Given the description of an element on the screen output the (x, y) to click on. 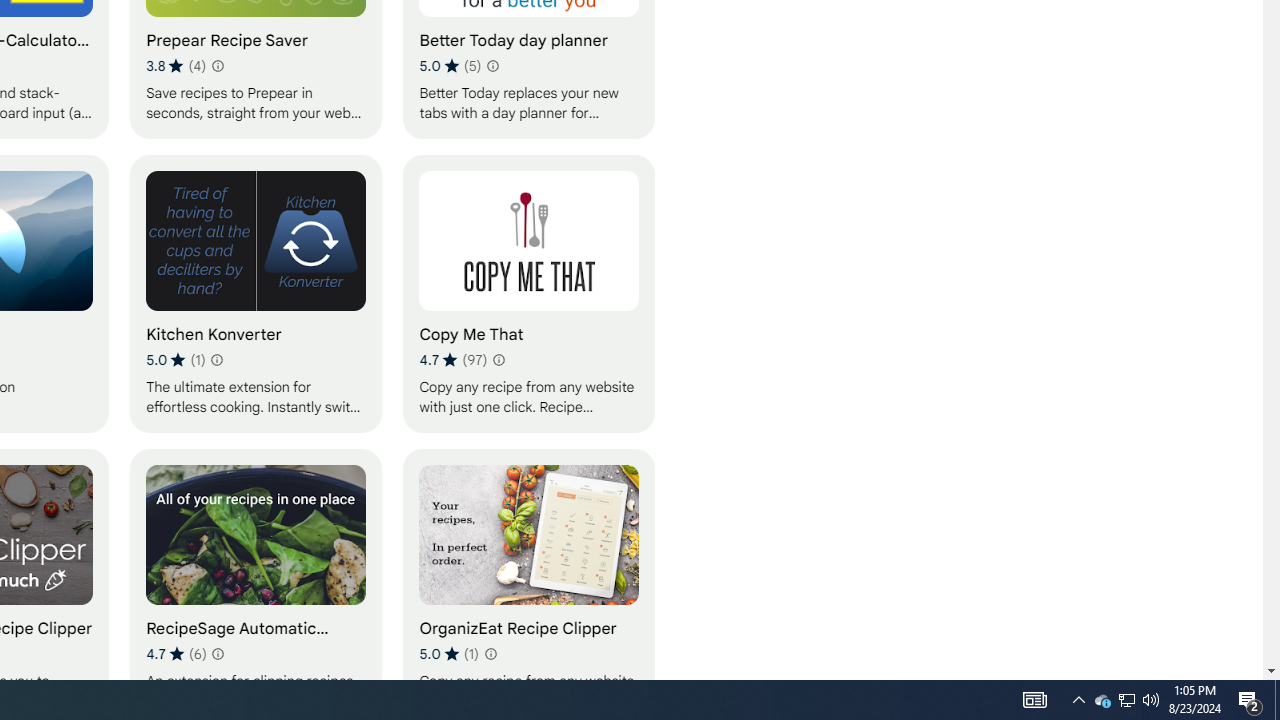
Copy Me That (529, 293)
Average rating 4.7 out of 5 stars. 97 ratings. (452, 359)
Average rating 3.8 out of 5 stars. 4 ratings. (176, 66)
Learn more about results and reviews "Copy Me That" (498, 359)
Average rating 5 out of 5 stars. 5 ratings. (450, 66)
Average rating 4.7 out of 5 stars. 6 ratings. (176, 653)
Average rating 5 out of 5 stars. 1 rating. (448, 653)
Kitchen Konverter (256, 293)
Learn more about results and reviews "Prepear Recipe Saver" (216, 65)
Learn more about results and reviews "Kitchen Konverter" (216, 359)
